Given the description of an element on the screen output the (x, y) to click on. 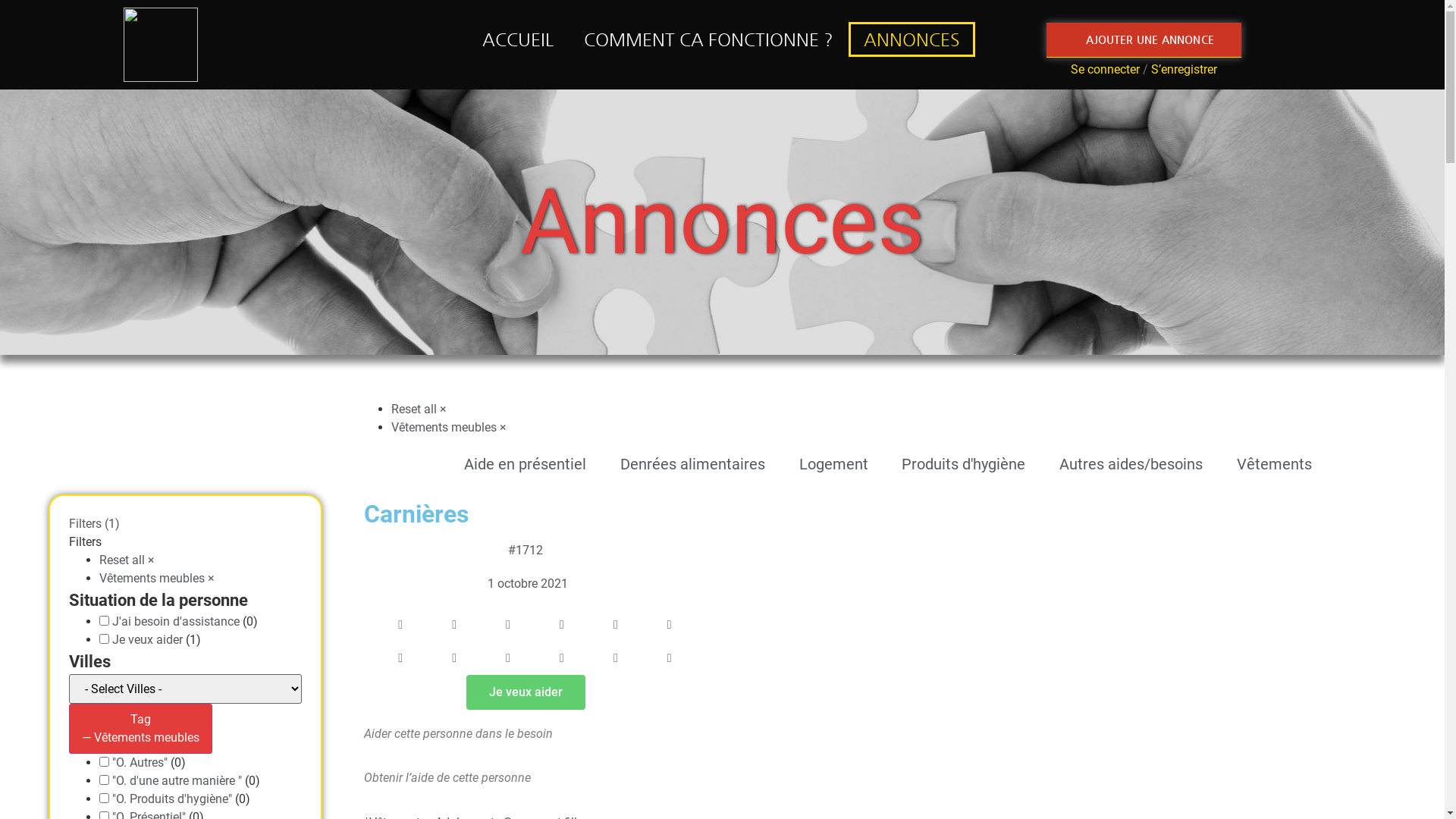
Filters (1) Element type: text (94, 523)
Je veux aider Element type: text (147, 639)
Se connecter Element type: text (1104, 69)
Autres aides/besoins Element type: text (1119, 463)
ACCUEIL Element type: text (517, 38)
COMMENT CA FONCTIONNE ? Element type: text (708, 38)
"O. Autres" Element type: text (139, 762)
ANNONCES Element type: text (911, 38)
AJOUTER UNE ANNONCE Element type: text (1143, 39)
Je veux aider Element type: text (524, 691)
Logement Element type: text (822, 463)
J'ai besoin d'assistance Element type: text (175, 621)
